Given the description of an element on the screen output the (x, y) to click on. 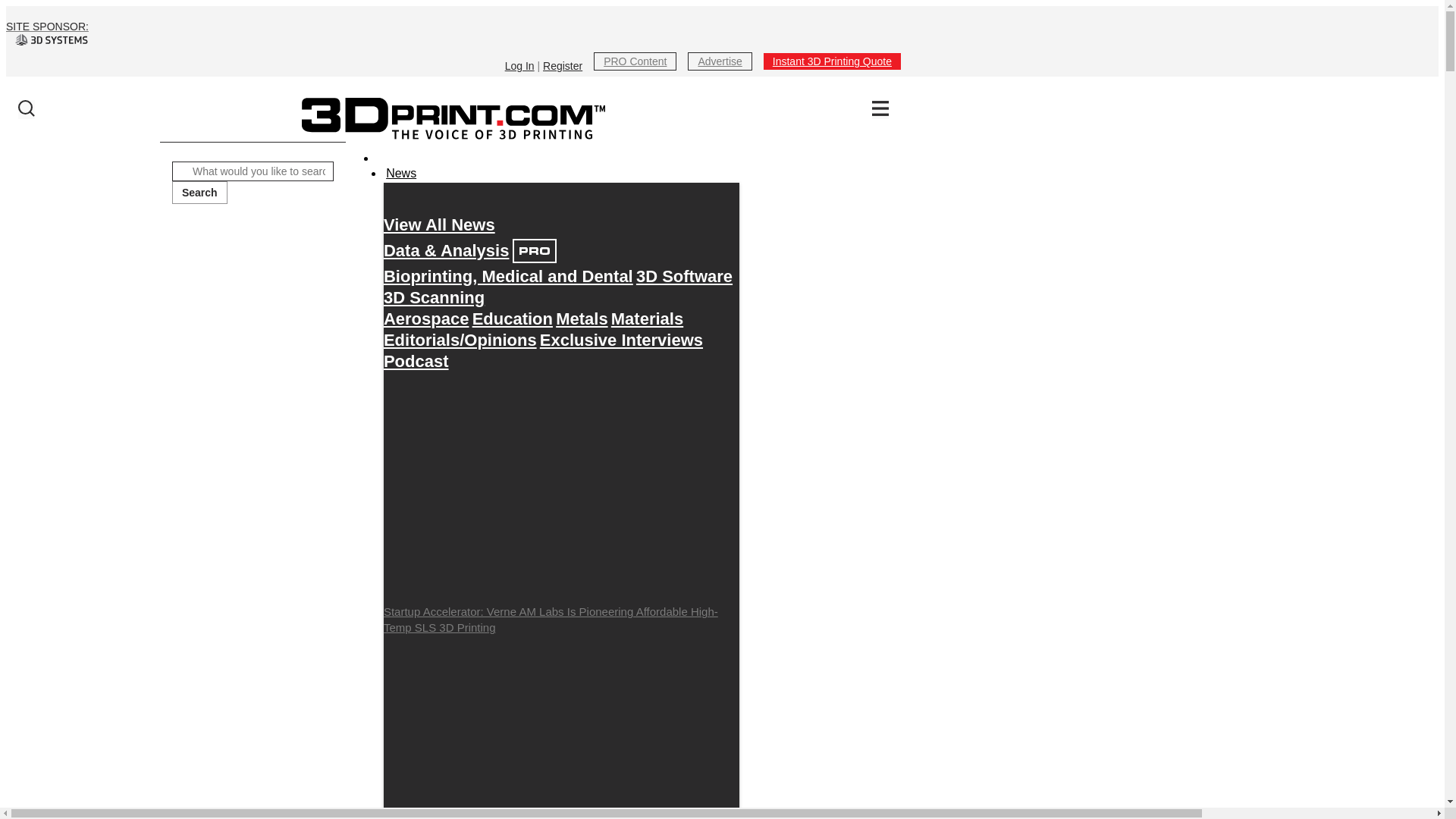
Bioprinting, Medical and Dental (508, 276)
Instant 3D Printing Quote (831, 60)
Aerospace (426, 318)
Metals (581, 318)
3D Software (684, 276)
3D Scanning (434, 297)
Log In (519, 65)
SITE SPONSOR: (453, 32)
Advertise (719, 60)
News (401, 173)
Education (512, 318)
Materials (646, 318)
Podcast (416, 360)
Search (199, 191)
